Given the description of an element on the screen output the (x, y) to click on. 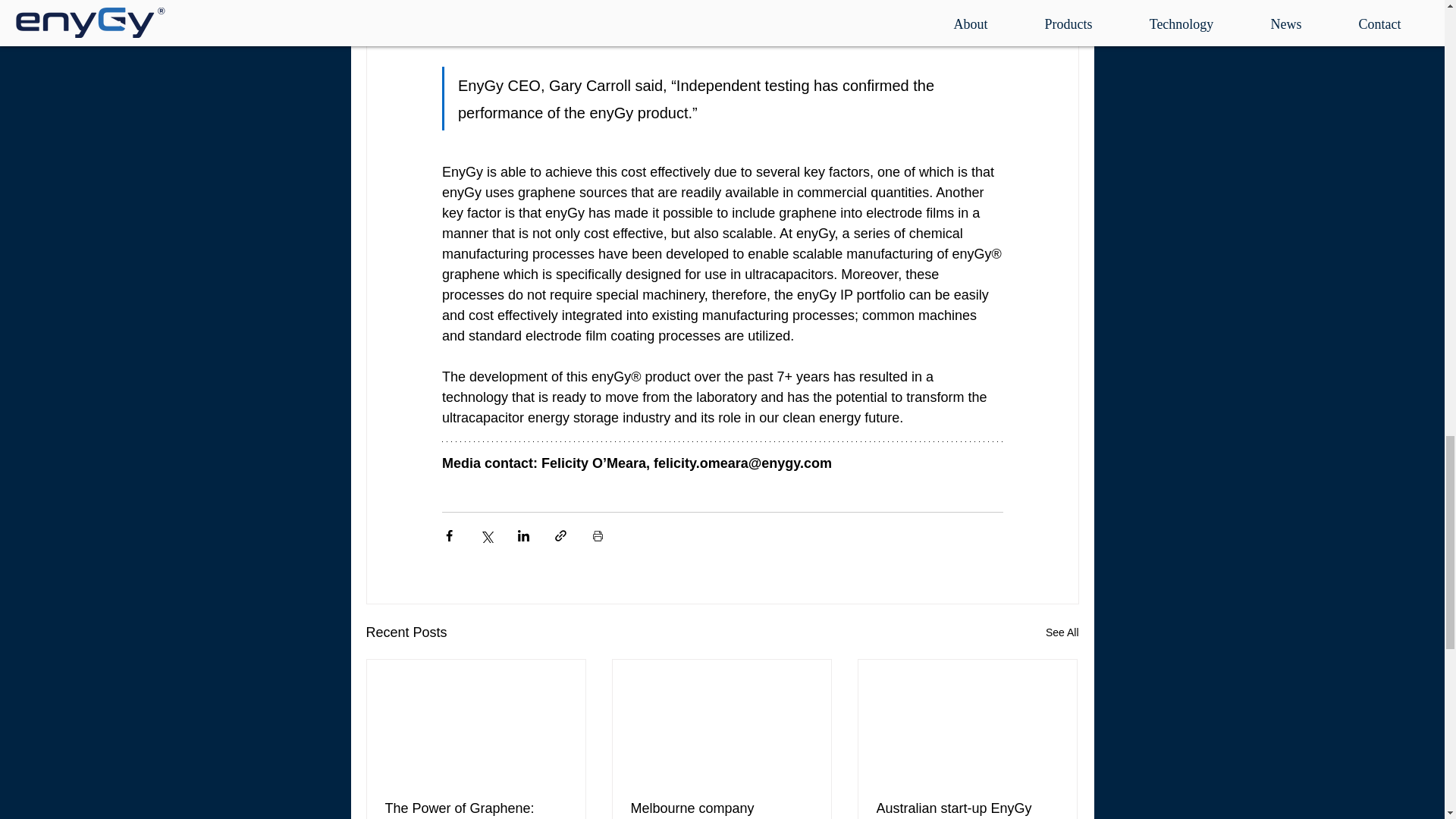
See All (1061, 632)
